Given the description of an element on the screen output the (x, y) to click on. 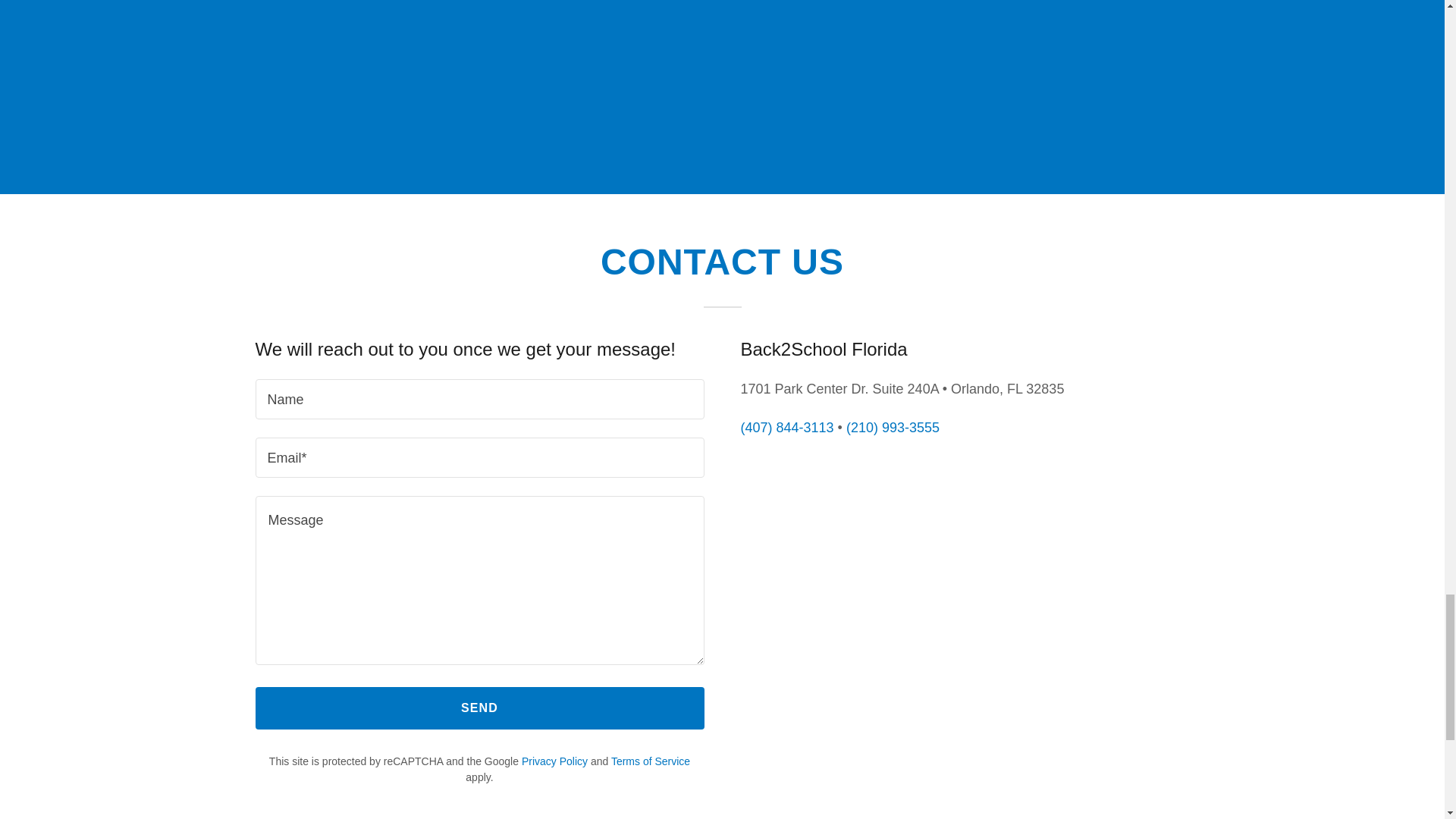
Terms of Service (650, 761)
SEND (478, 708)
Privacy Policy (554, 761)
